Given the description of an element on the screen output the (x, y) to click on. 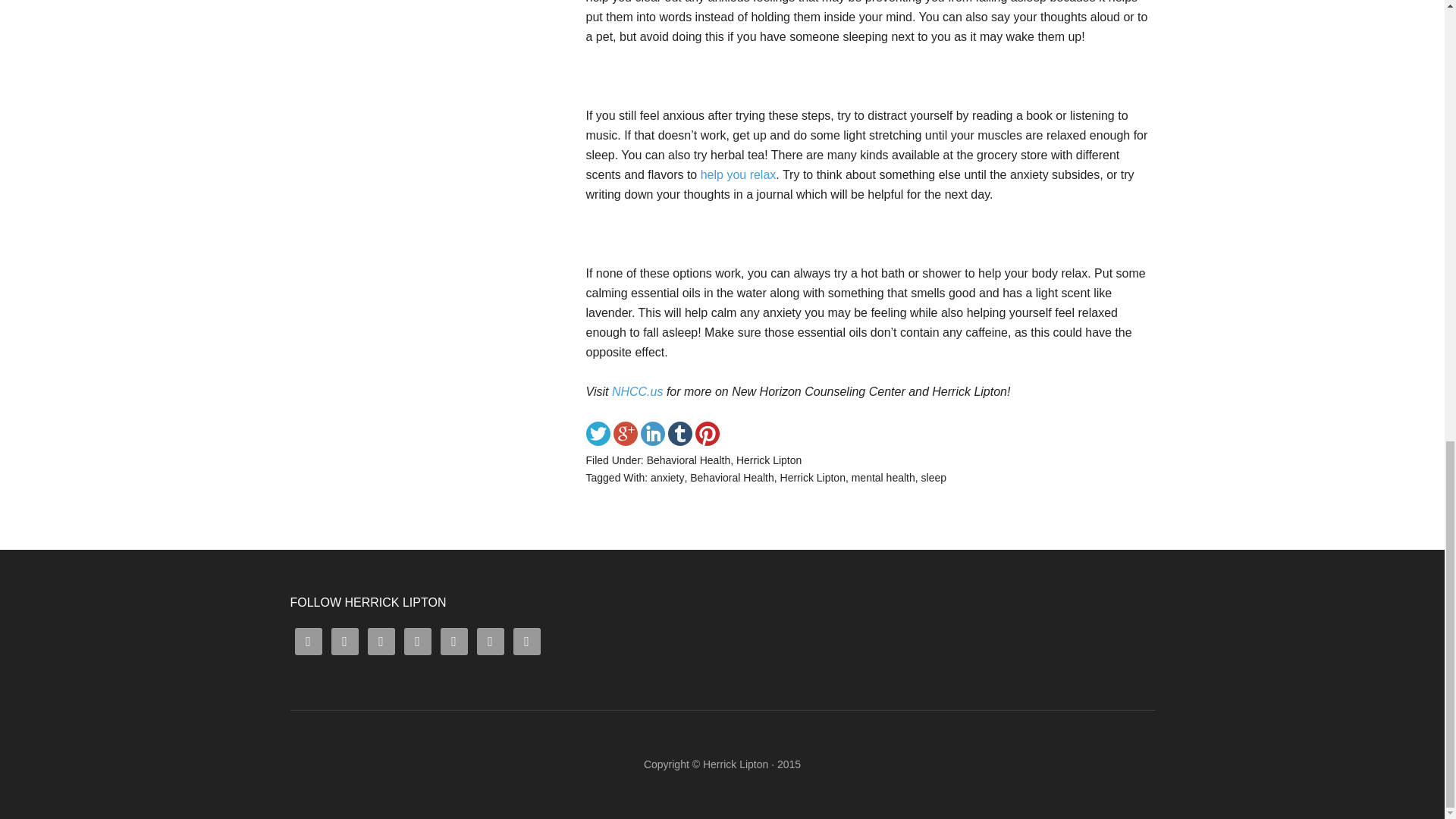
Herrick Lipton (735, 764)
help you relax (736, 174)
Herrick Lipton (812, 477)
Behavioral Health (688, 460)
mental health (883, 477)
Herrick Lipton (769, 460)
anxiety (667, 477)
Behavioral Health (732, 477)
Herrick Lipton (735, 764)
NHCC.us (637, 391)
sleep (933, 477)
